Given the description of an element on the screen output the (x, y) to click on. 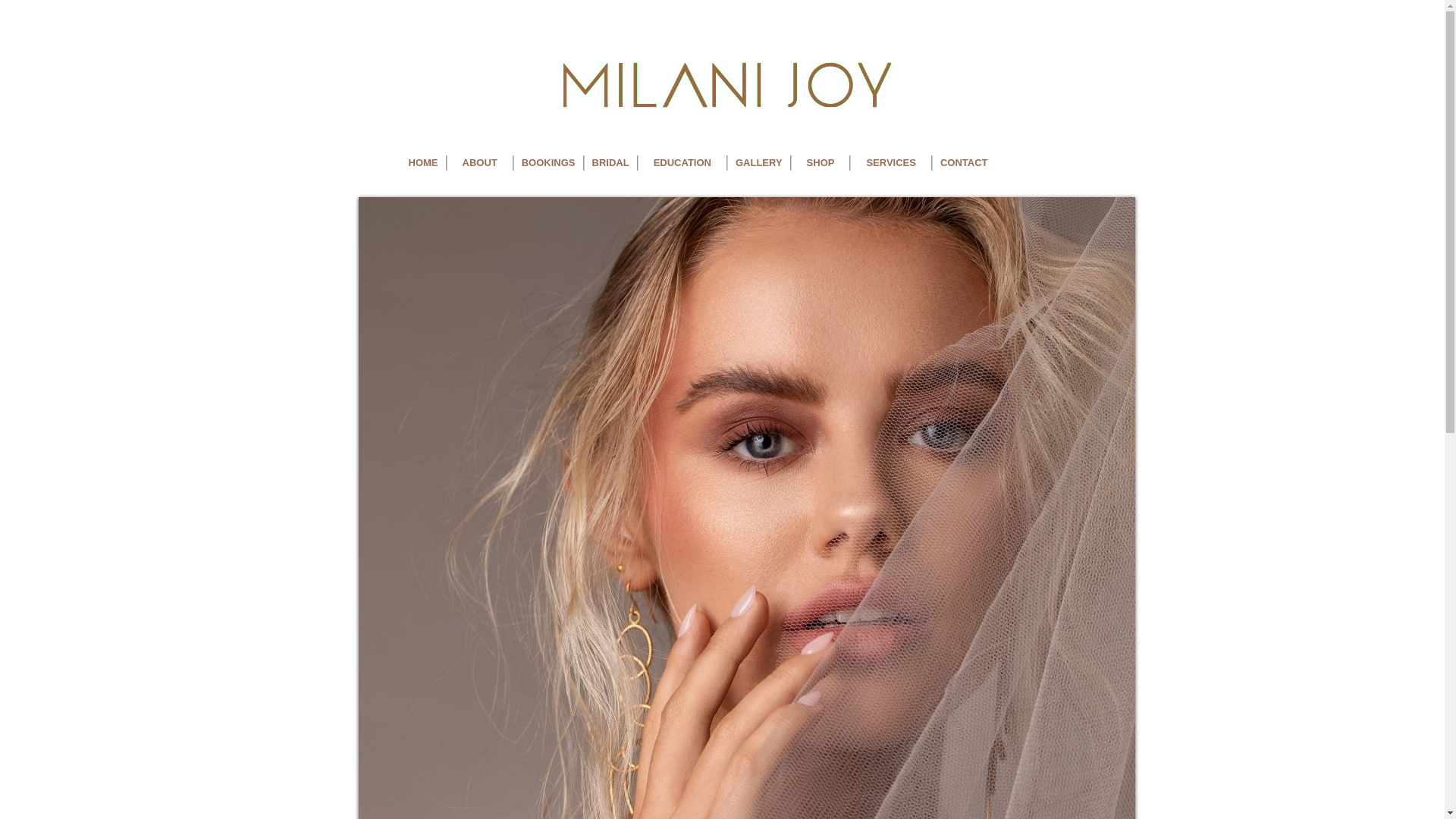
SHOP Element type: text (820, 162)
BRIDAL Element type: text (610, 162)
EDUCATION Element type: text (682, 162)
SERVICES Element type: text (890, 162)
CONTACT Element type: text (963, 162)
BOOKINGS Element type: text (548, 162)
HOME Element type: text (422, 162)
GALLERY Element type: text (759, 162)
ABOUT Element type: text (479, 162)
